Given the description of an element on the screen output the (x, y) to click on. 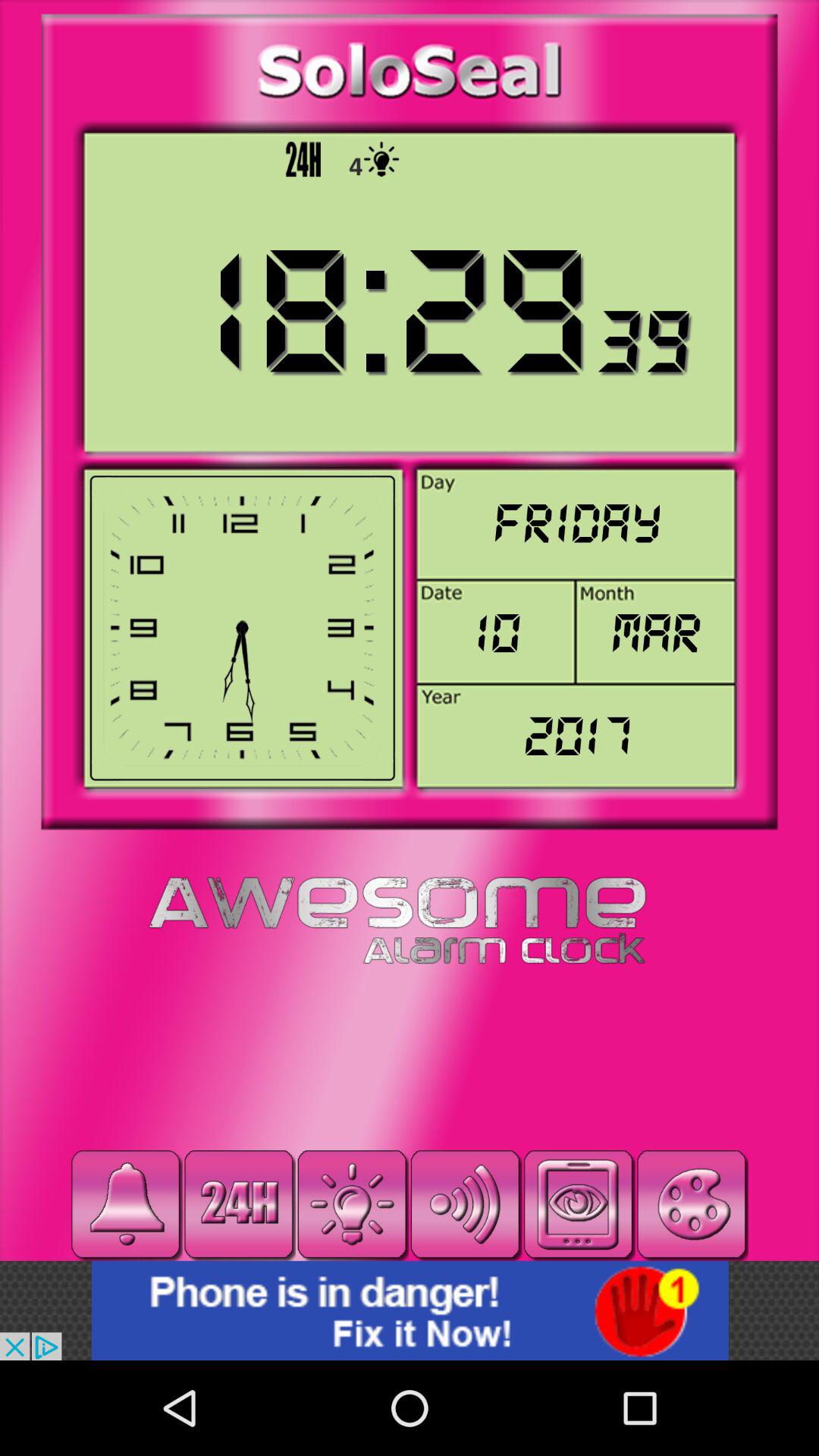
wifi connection using (465, 1203)
